Given the description of an element on the screen output the (x, y) to click on. 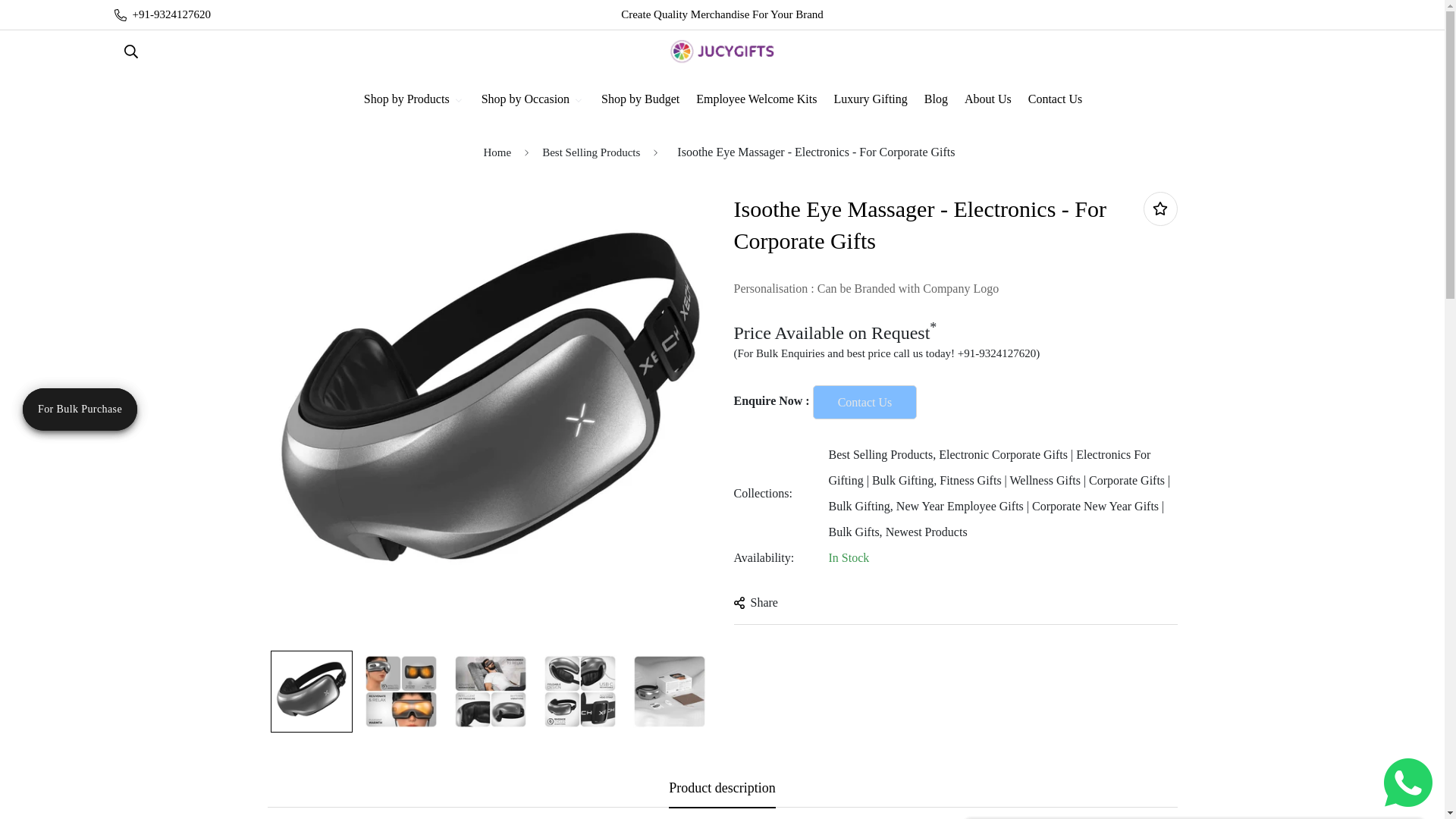
Shop by Occasion (531, 98)
Employee Welcome Kits (755, 98)
Blog (935, 98)
JucyGifts (721, 51)
Shop by Budget (639, 98)
Back to the home page (497, 152)
Shop by Products (413, 98)
Luxury Gifting (869, 98)
